Given the description of an element on the screen output the (x, y) to click on. 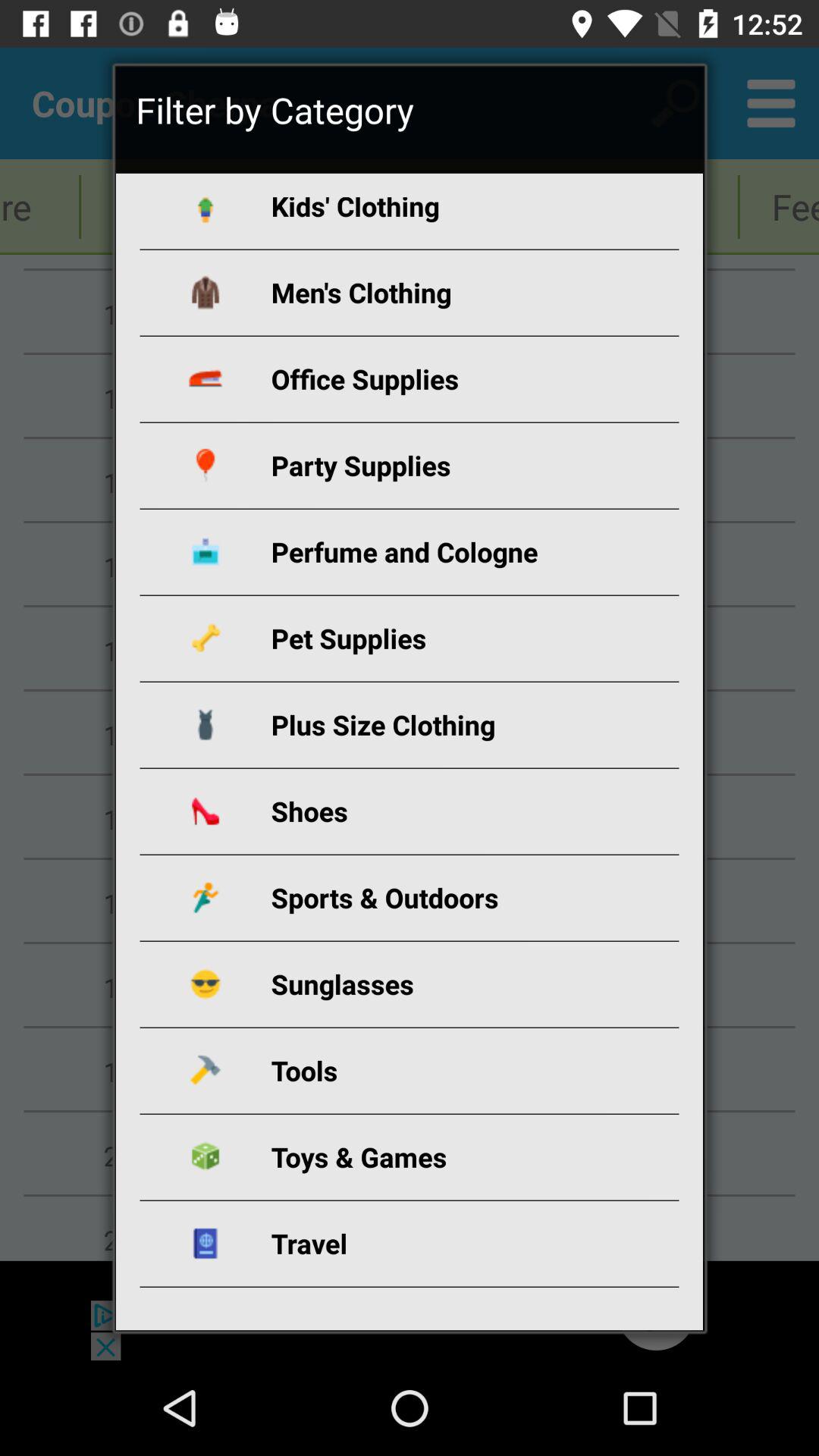
jump to men's clothing (427, 292)
